Given the description of an element on the screen output the (x, y) to click on. 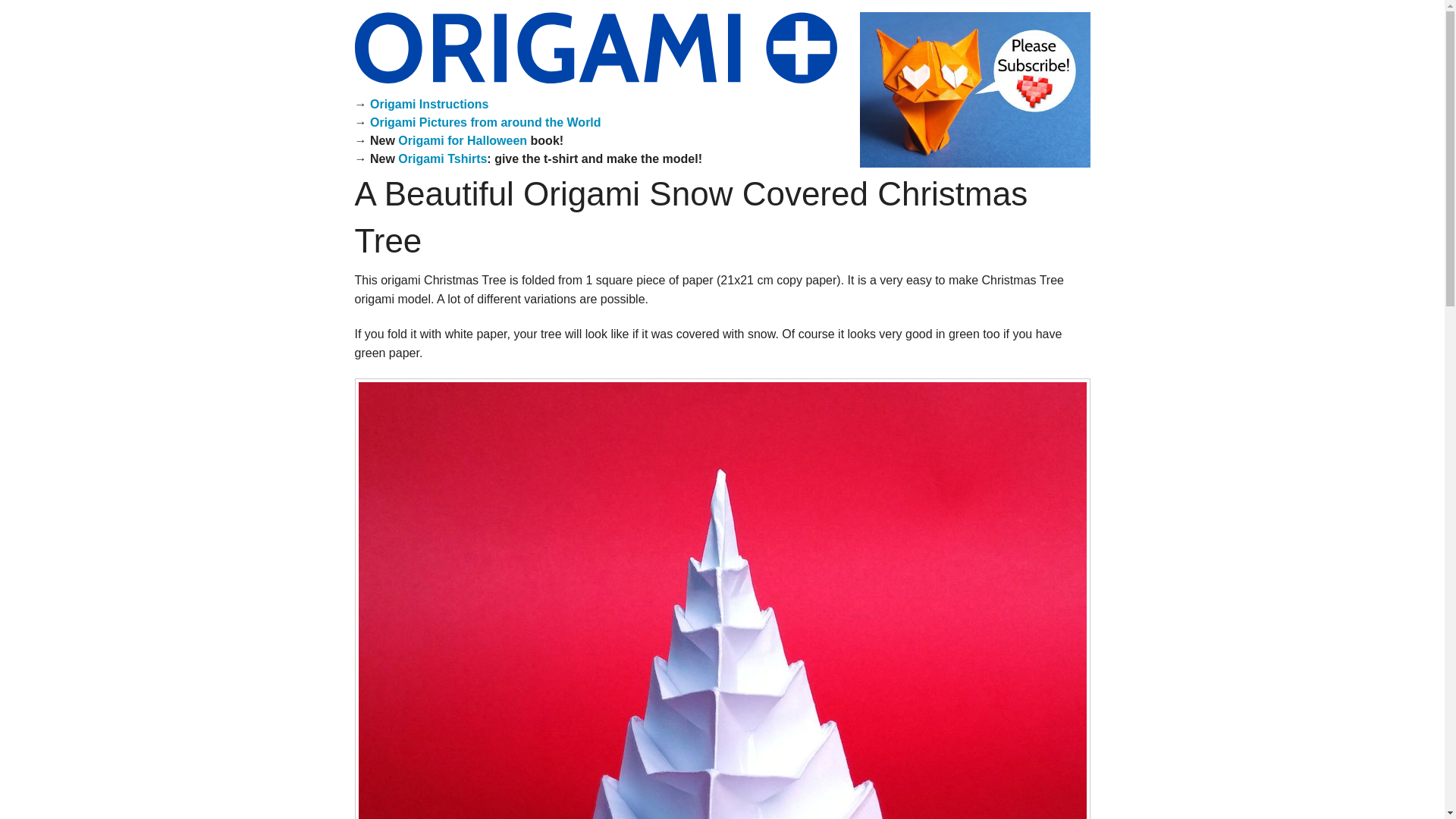
Please subscribe to my YouTube channel Origami Plus! (974, 88)
Origami for Halloween (462, 140)
Origami Tshirts (441, 158)
Origami Instructions (428, 103)
Origami Pictures from around the World (485, 122)
